Given the description of an element on the screen output the (x, y) to click on. 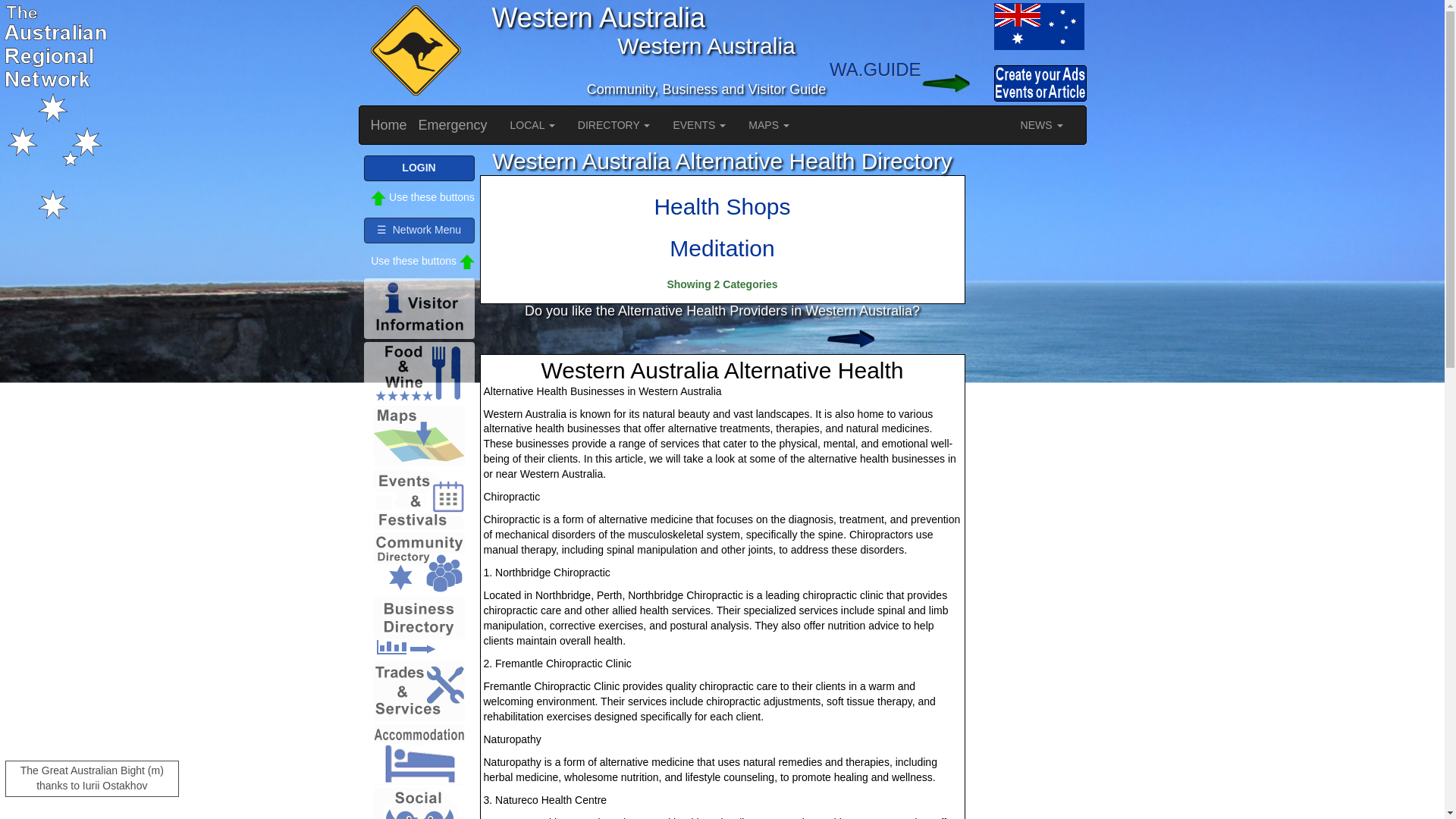
LOCAL (532, 125)
Western Australia Australia (1037, 26)
Home (389, 125)
Emergency (453, 125)
DIRECTORY (614, 125)
Please like our Page (861, 339)
Western Australia Skippycoin ICG (413, 52)
Login to wa.guide (956, 83)
Australia (956, 26)
